Given the description of an element on the screen output the (x, y) to click on. 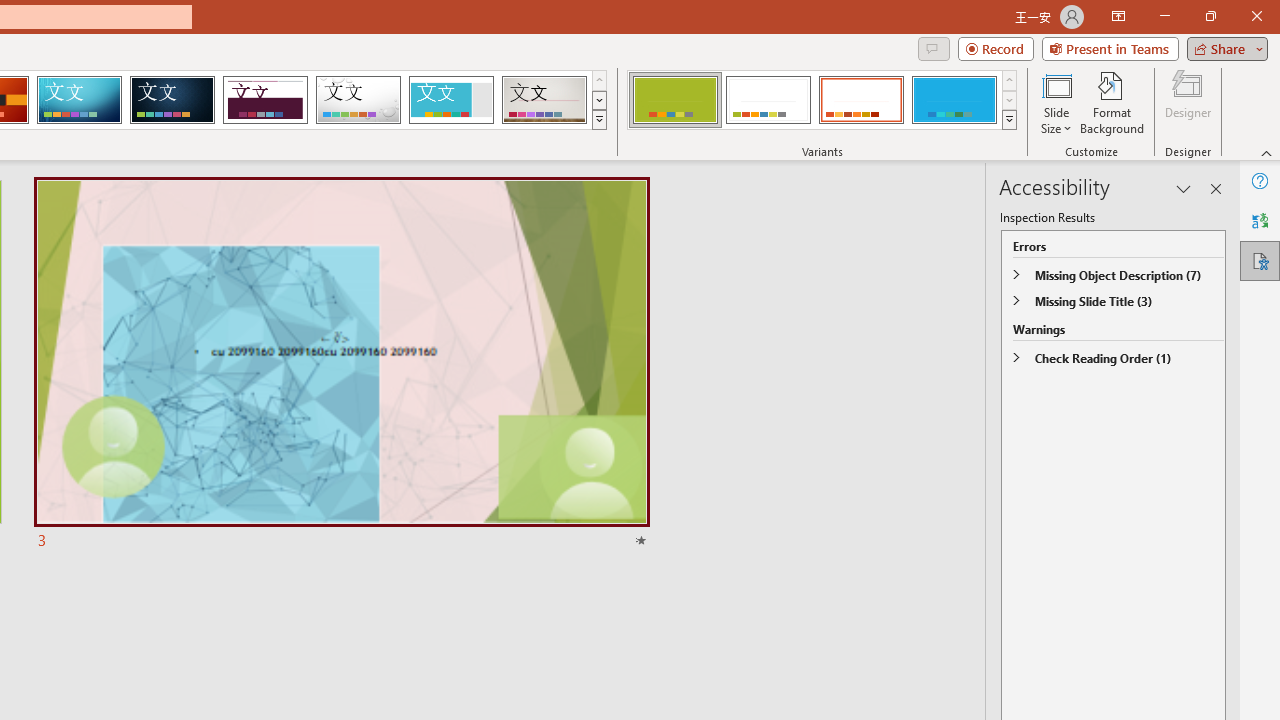
Themes (598, 120)
